Given the description of an element on the screen output the (x, y) to click on. 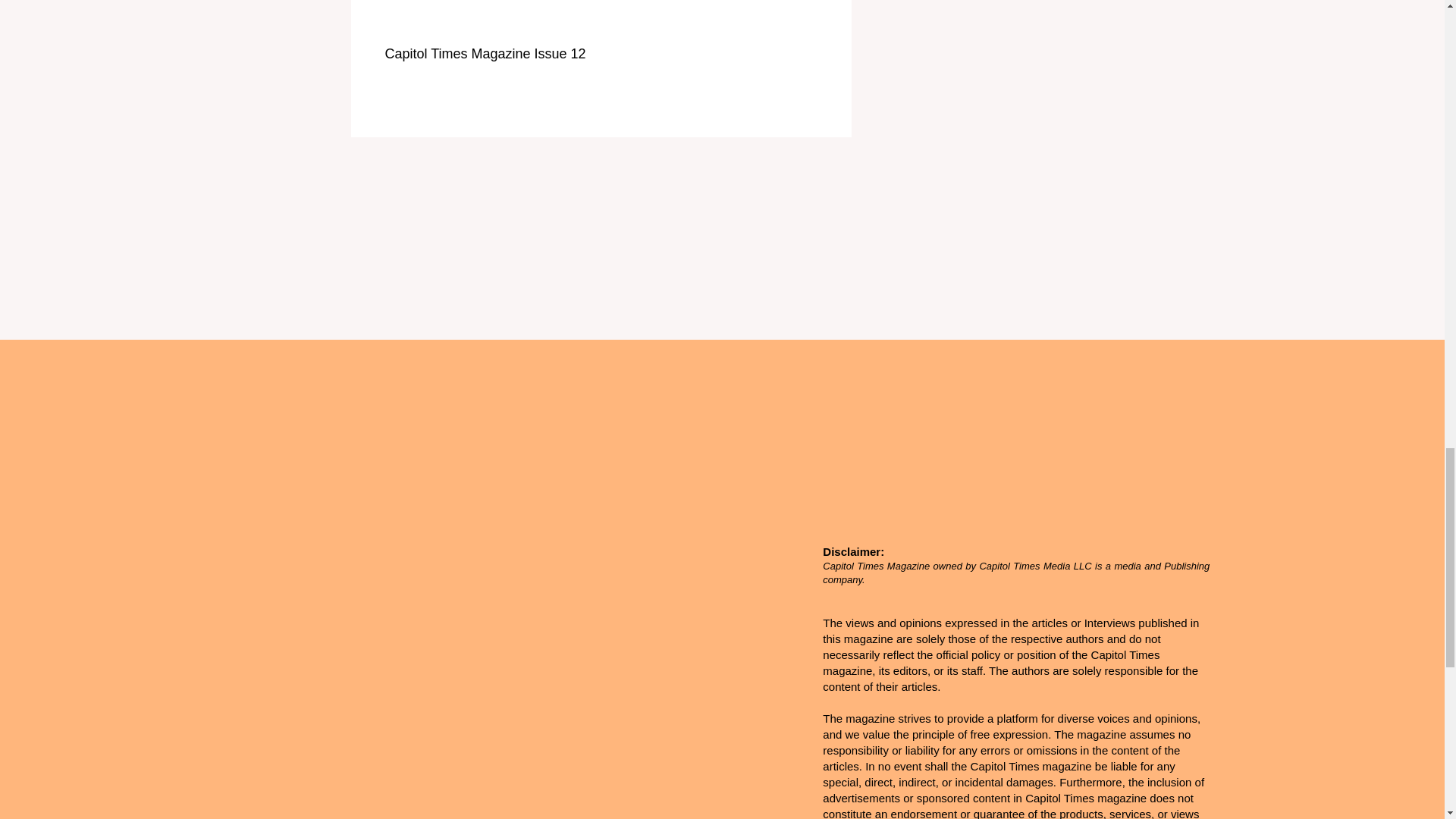
Capitol Times Magazine Issue 12 (538, 53)
